Given the description of an element on the screen output the (x, y) to click on. 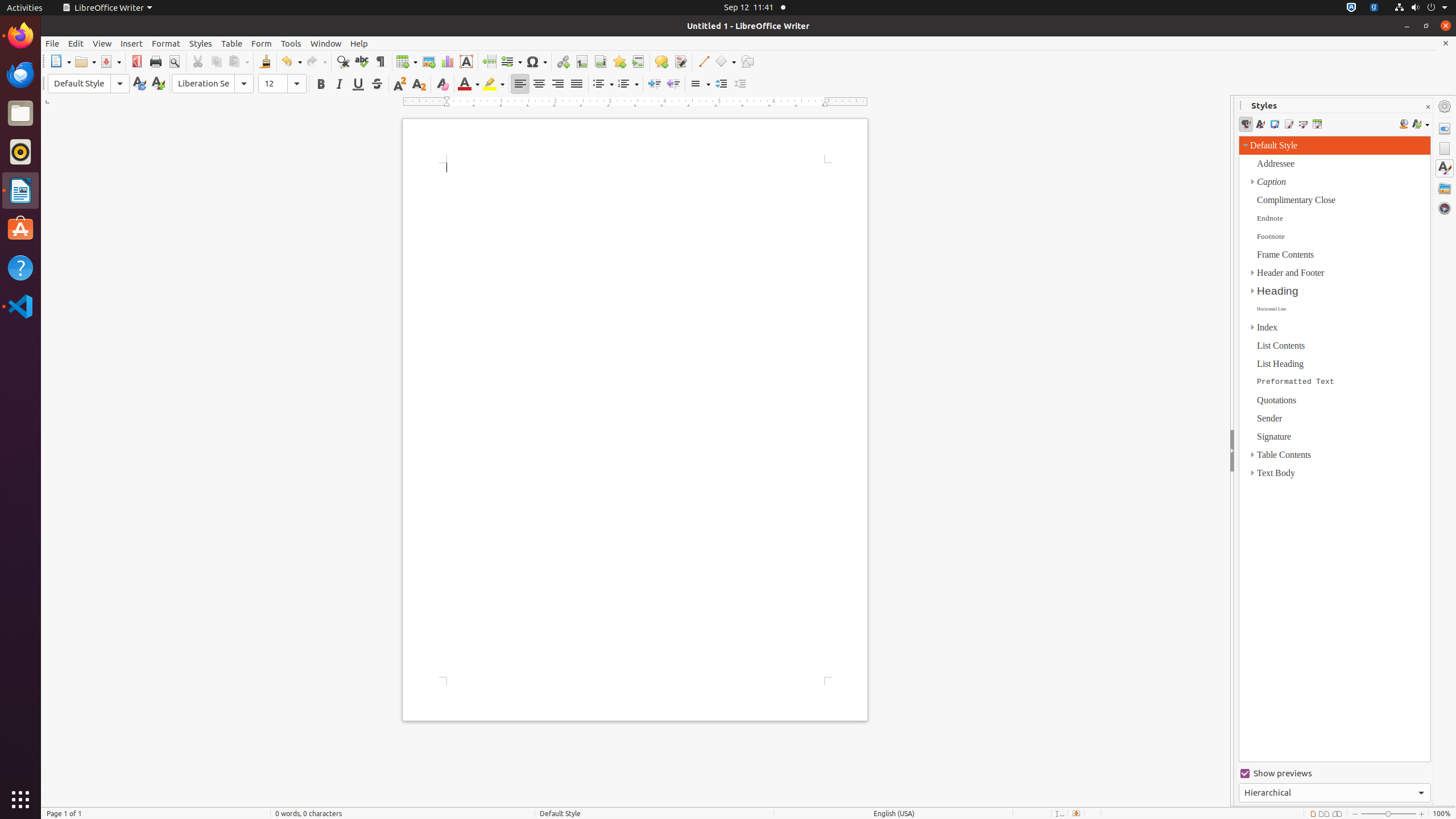
Paragraph Style Element type: text (78, 83)
Table Element type: menu (231, 43)
Save Element type: push-button (109, 61)
Thunderbird Mail Element type: push-button (20, 74)
Font Size Element type: panel (282, 83)
